Given the description of an element on the screen output the (x, y) to click on. 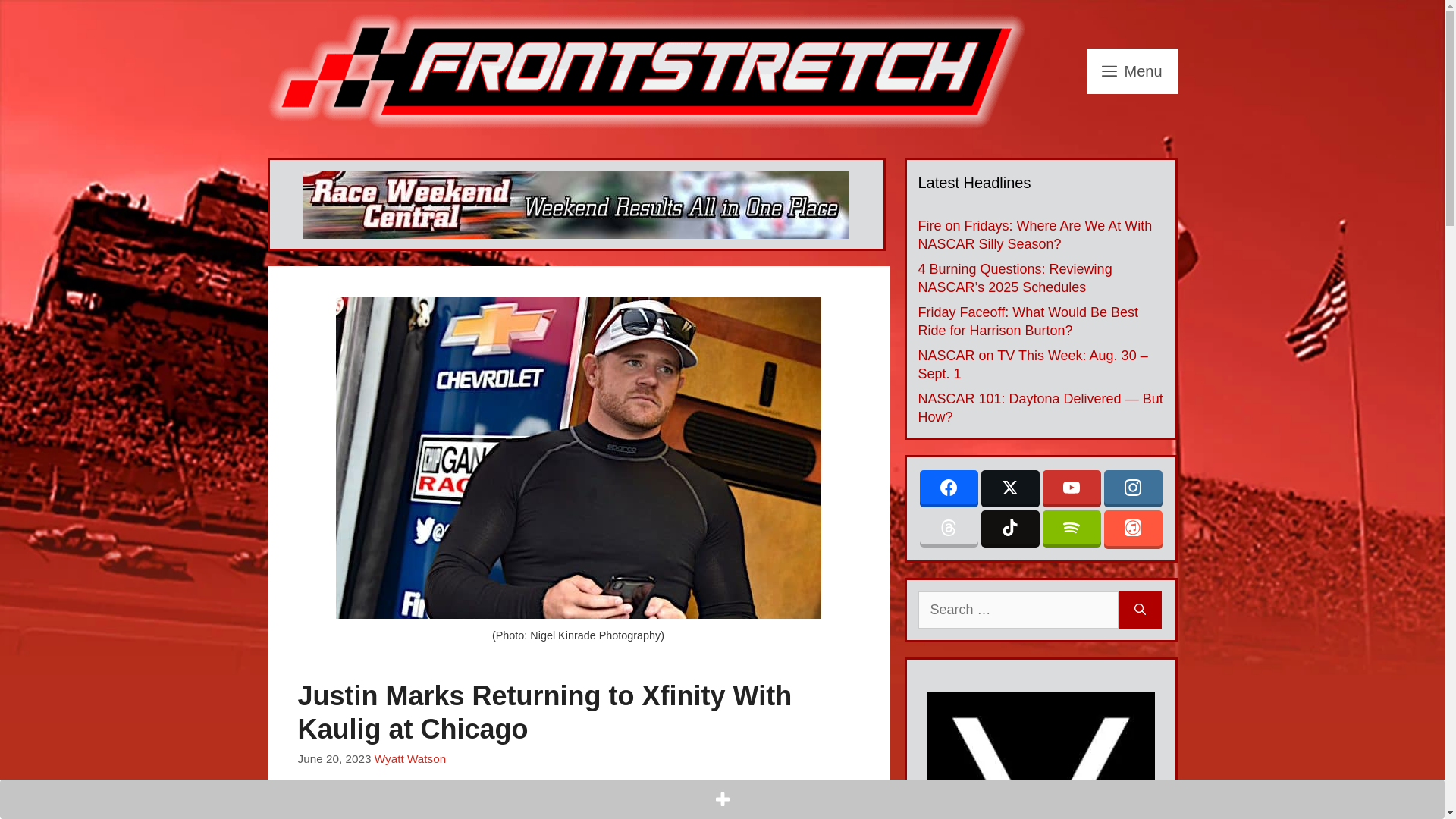
Share on Copy Link (442, 809)
Share on Facebook (311, 809)
Share on Email (410, 809)
Share on Comments (475, 809)
Share on Twitter (344, 809)
Share on Reddit (376, 809)
Menu (1131, 71)
Wyatt Watson (410, 758)
